Given the description of an element on the screen output the (x, y) to click on. 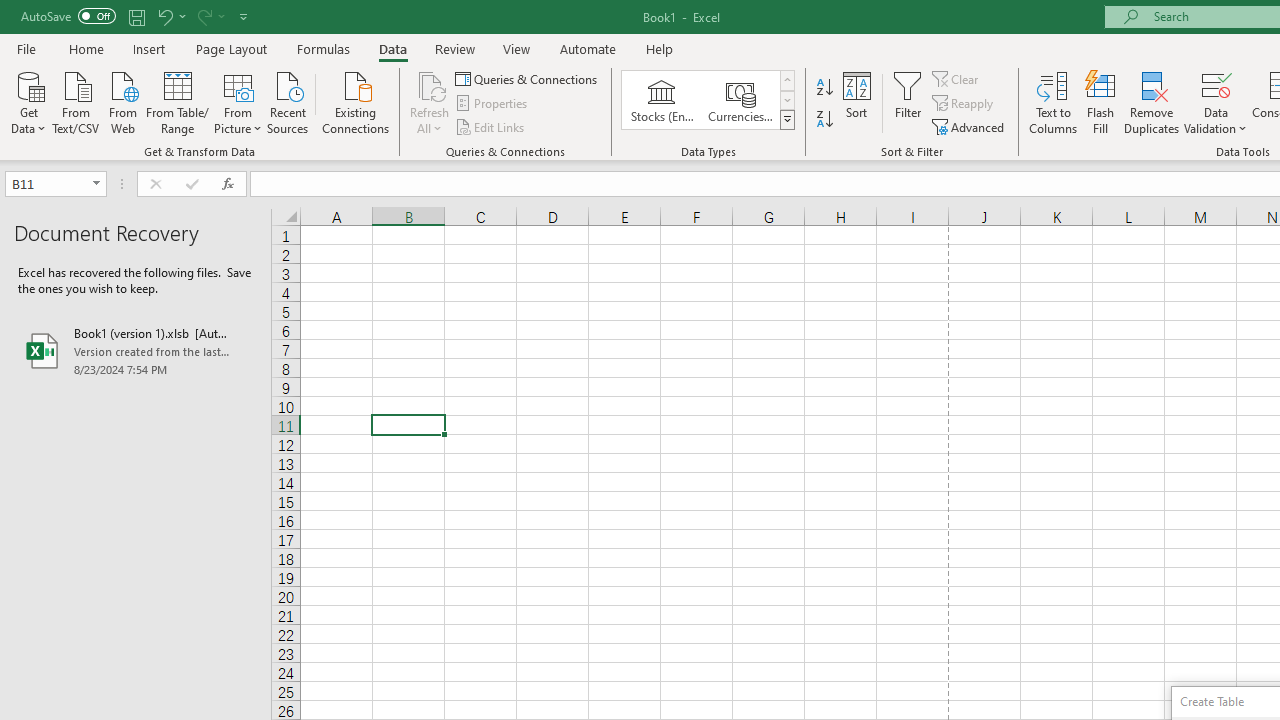
From Picture (238, 101)
